Given the description of an element on the screen output the (x, y) to click on. 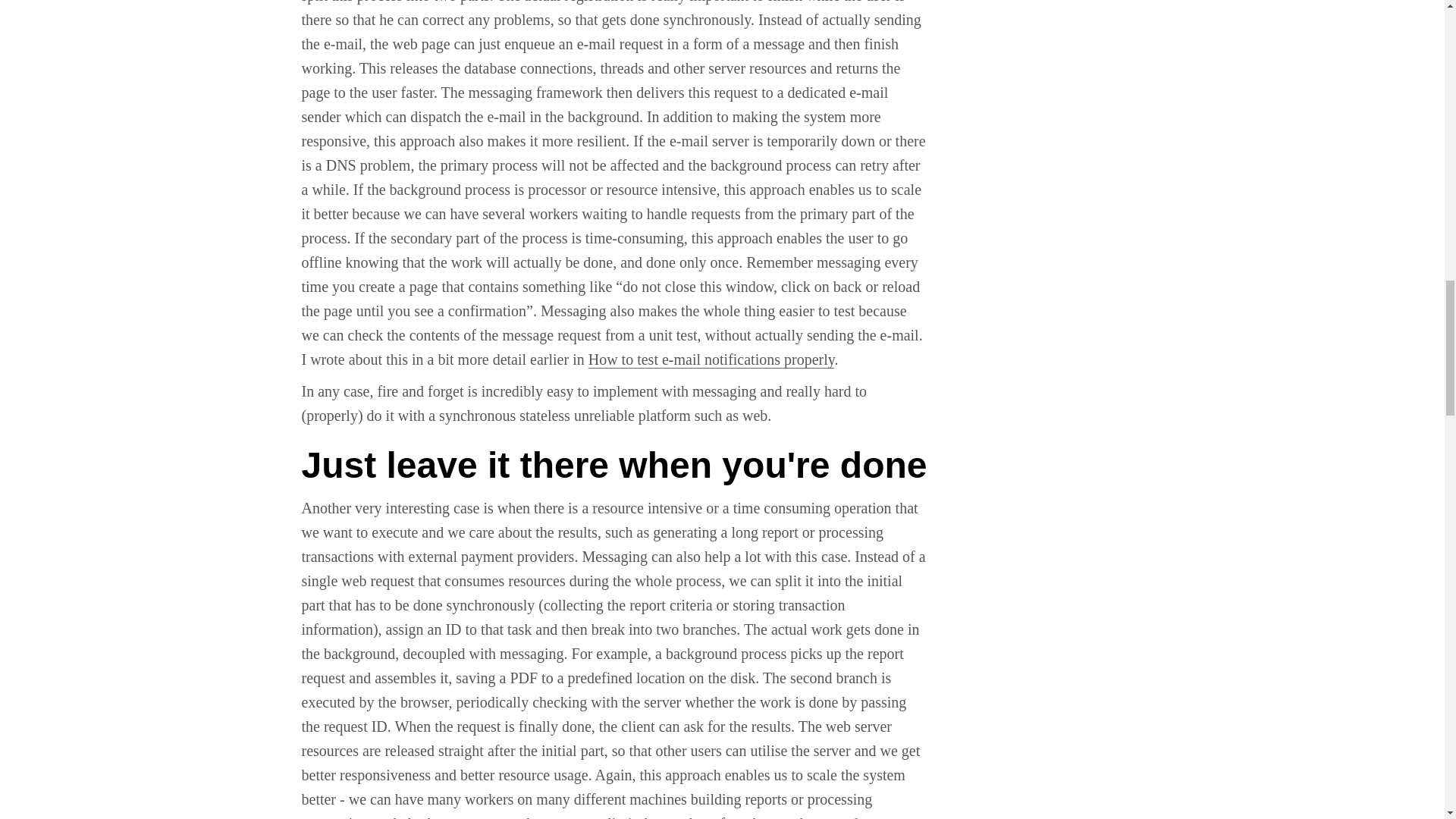
How to test e-mail notifications properly (711, 359)
